Given the description of an element on the screen output the (x, y) to click on. 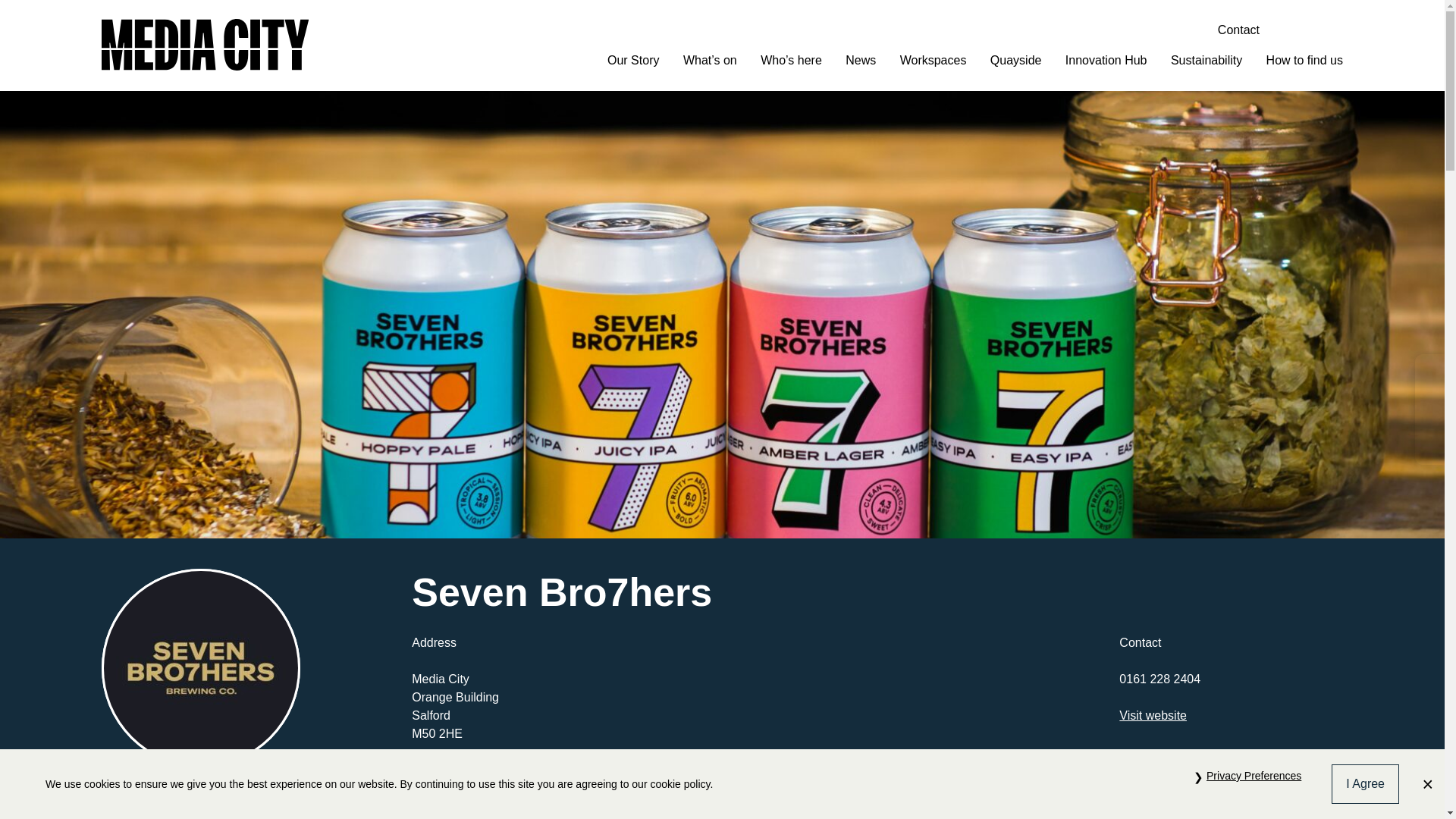
Sustainability (1205, 60)
Workspaces (932, 60)
Search the website (1331, 29)
Our Story (633, 60)
Innovation Hub (1106, 60)
Contact (1238, 29)
Quayside (1016, 60)
Search the website (1331, 29)
How to find us (1304, 60)
Accessibility menu (1289, 29)
News (860, 60)
